Given the description of an element on the screen output the (x, y) to click on. 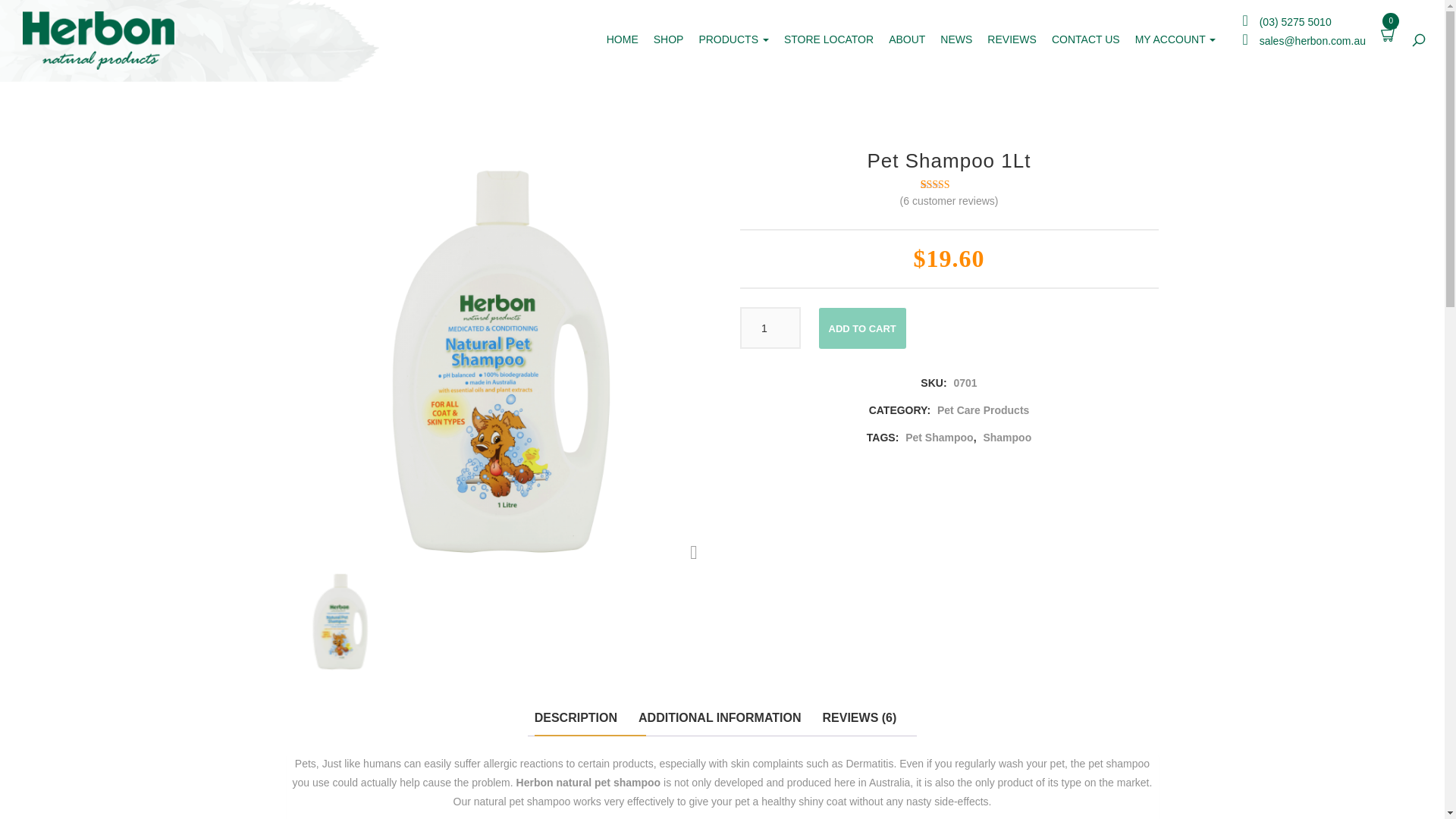
HOME (622, 39)
Shop (668, 39)
SHOP (668, 39)
Home (622, 39)
0 (1388, 33)
1 (769, 327)
View your shopping cart (1388, 33)
Products (733, 39)
PRODUCTS (733, 39)
